Given the description of an element on the screen output the (x, y) to click on. 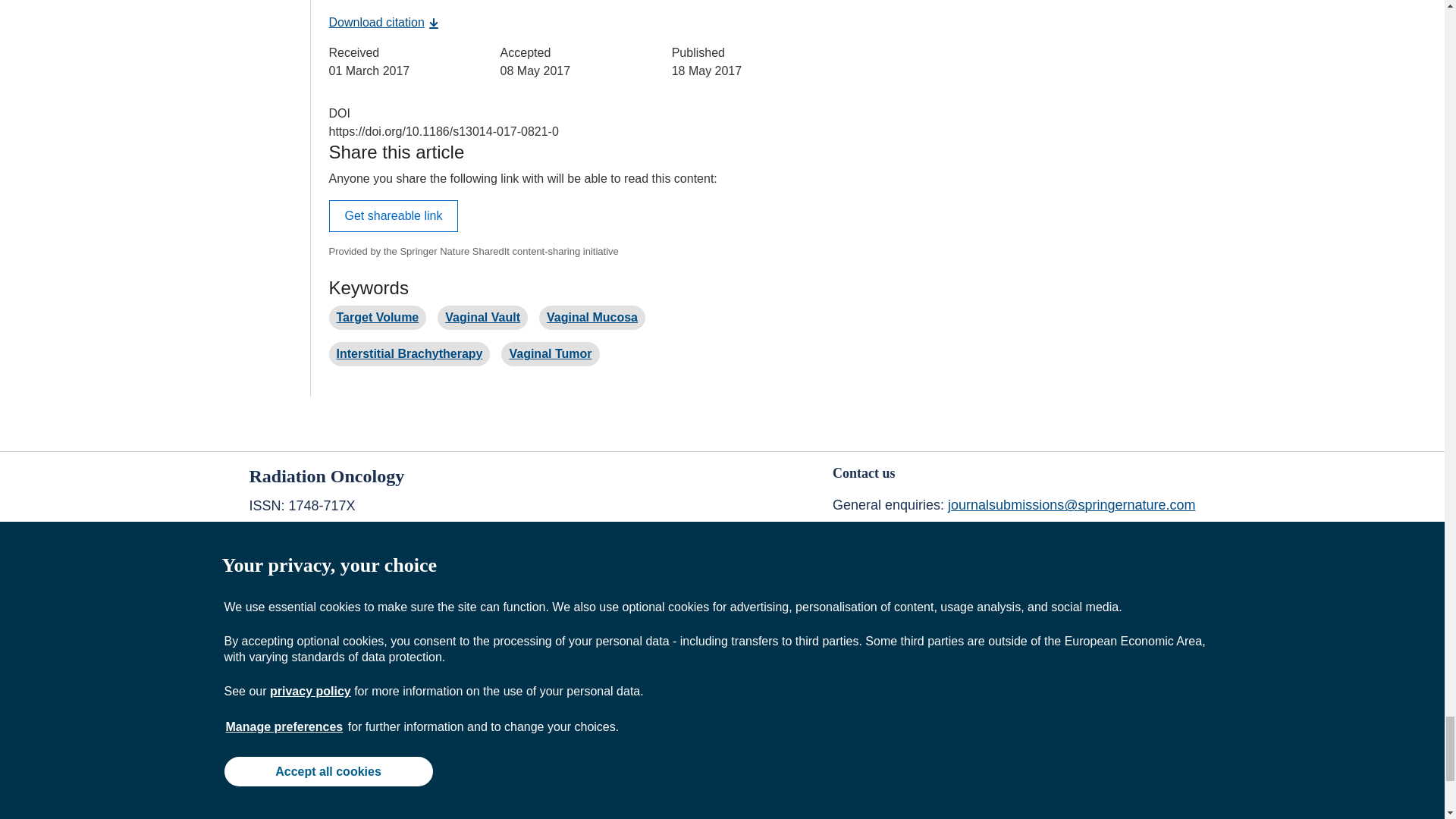
Digital Object Identifier (339, 113)
